Given the description of an element on the screen output the (x, y) to click on. 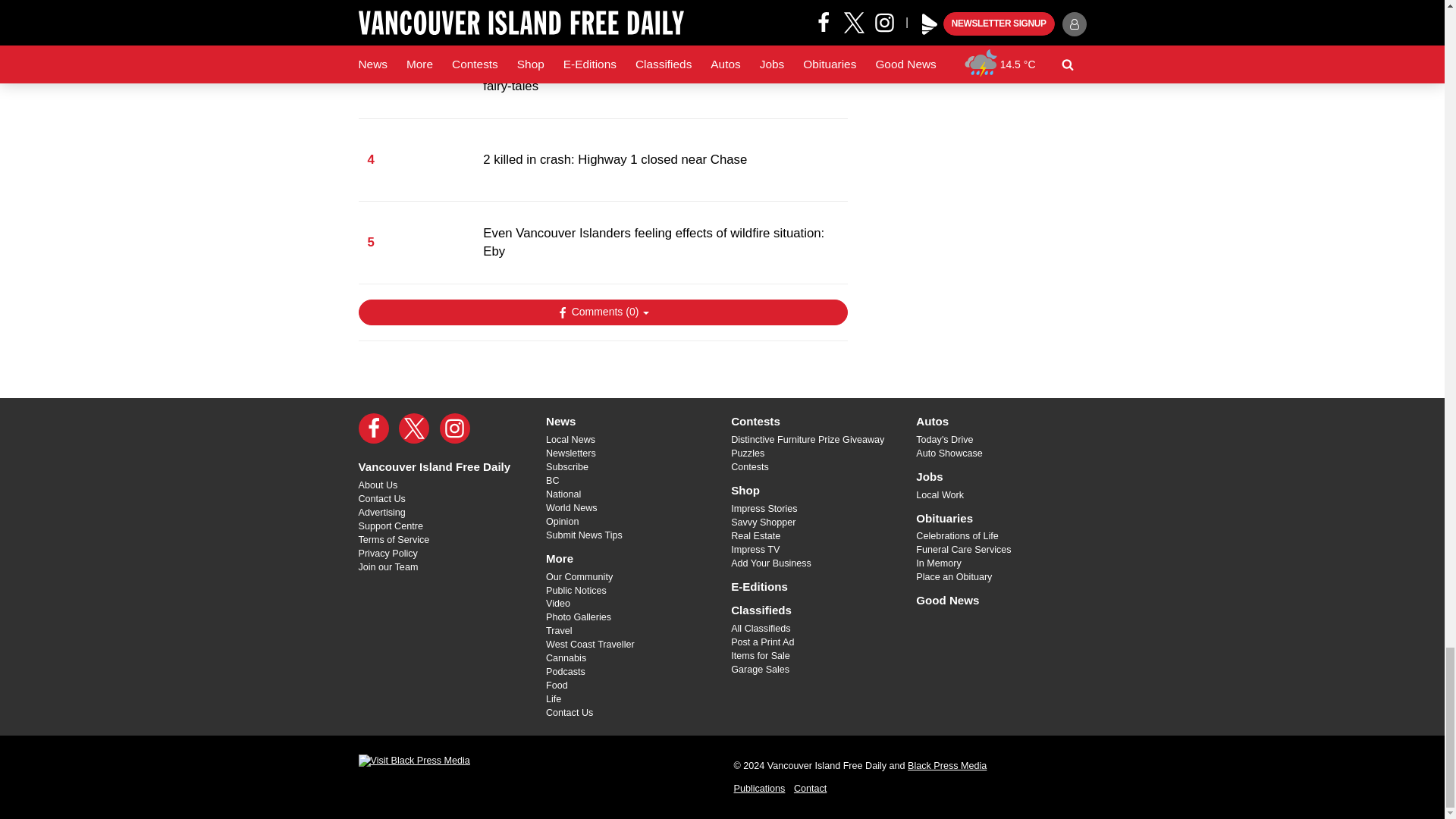
Show Comments (602, 312)
X (413, 428)
Facebook (373, 428)
Instagram (454, 428)
